Given the description of an element on the screen output the (x, y) to click on. 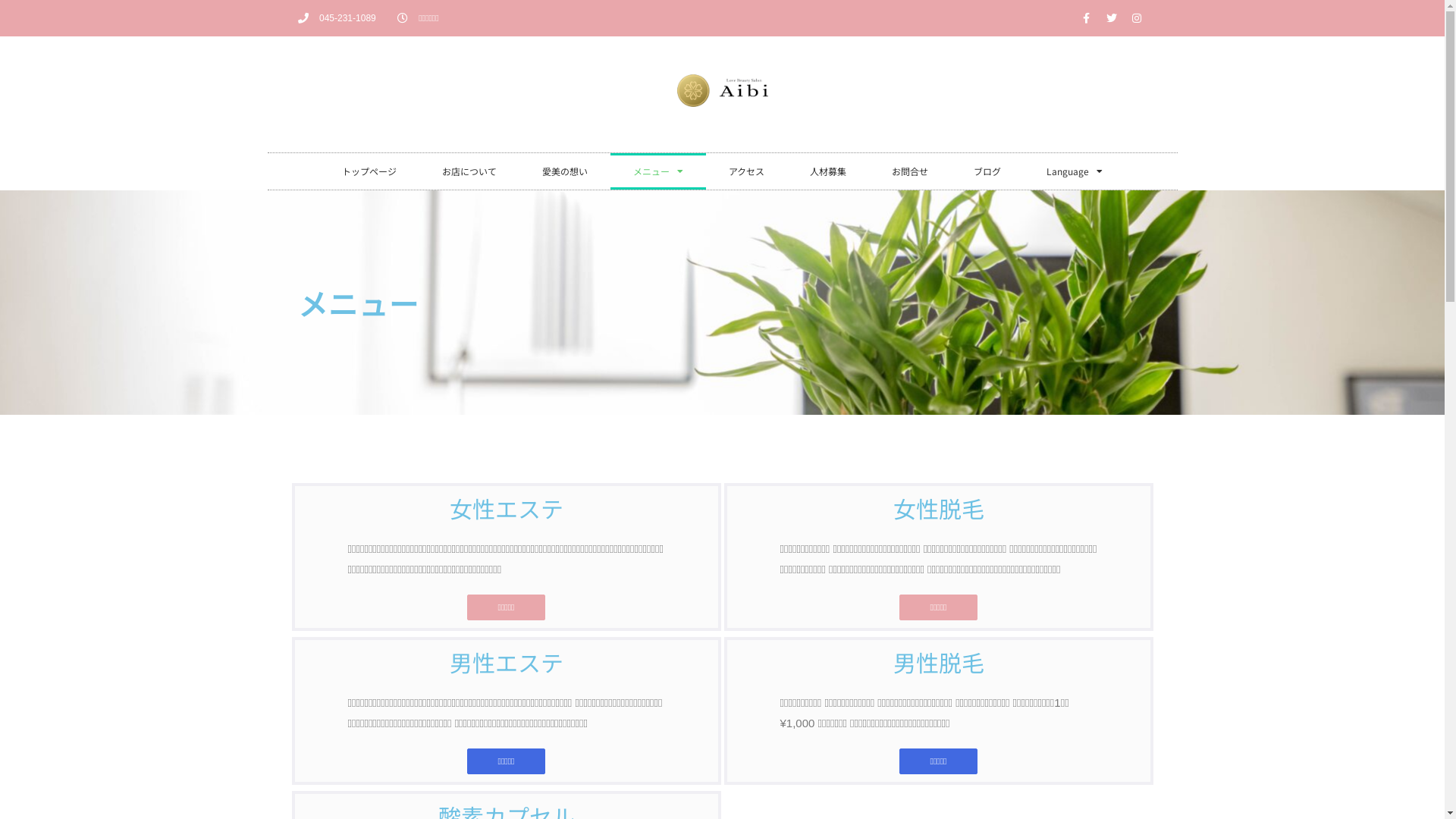
045-231-1089 Element type: text (336, 17)
Language Element type: text (1074, 171)
